Given the description of an element on the screen output the (x, y) to click on. 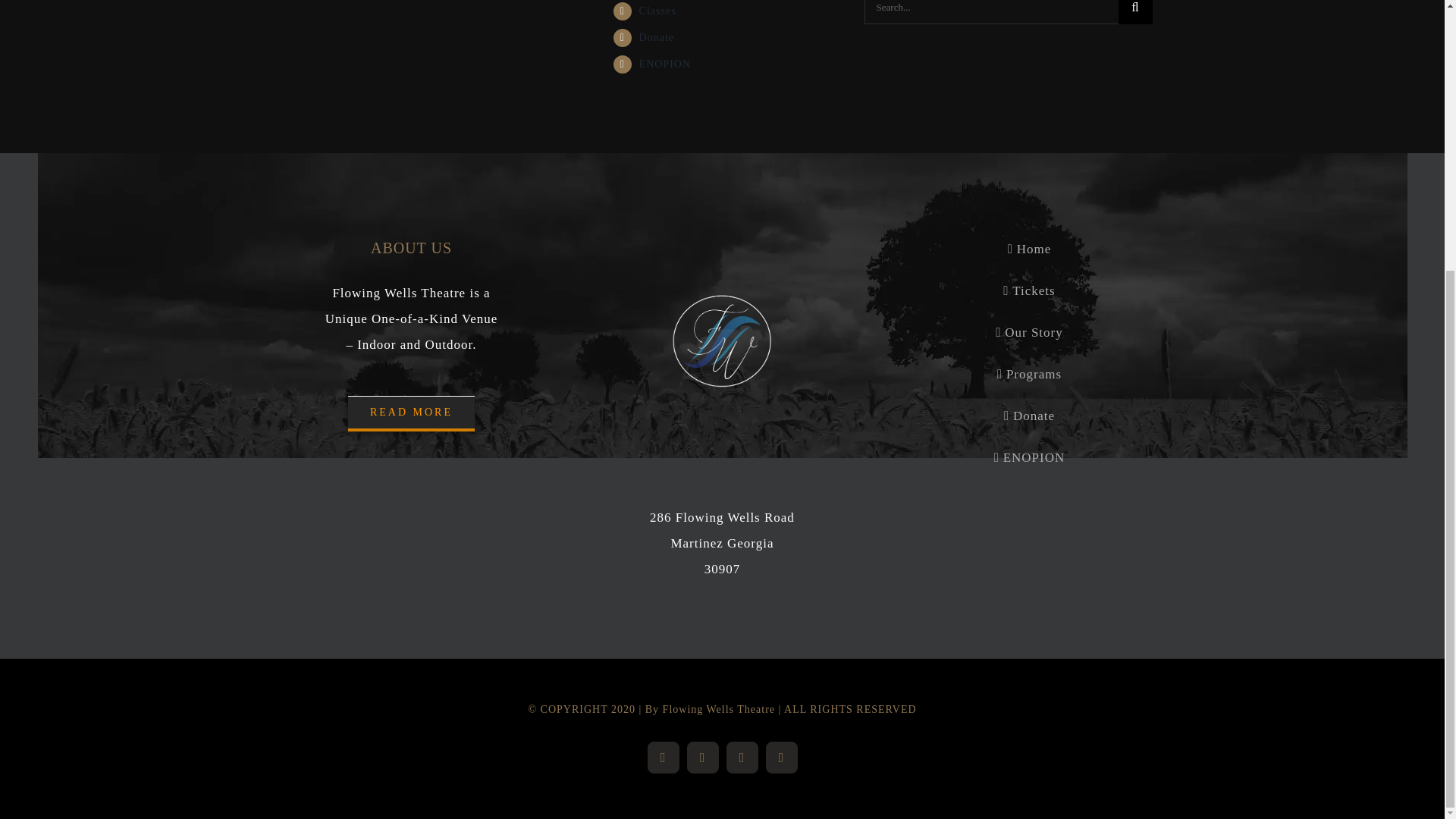
Classes (658, 10)
Donate (656, 37)
ENOPION (664, 63)
